Given the description of an element on the screen output the (x, y) to click on. 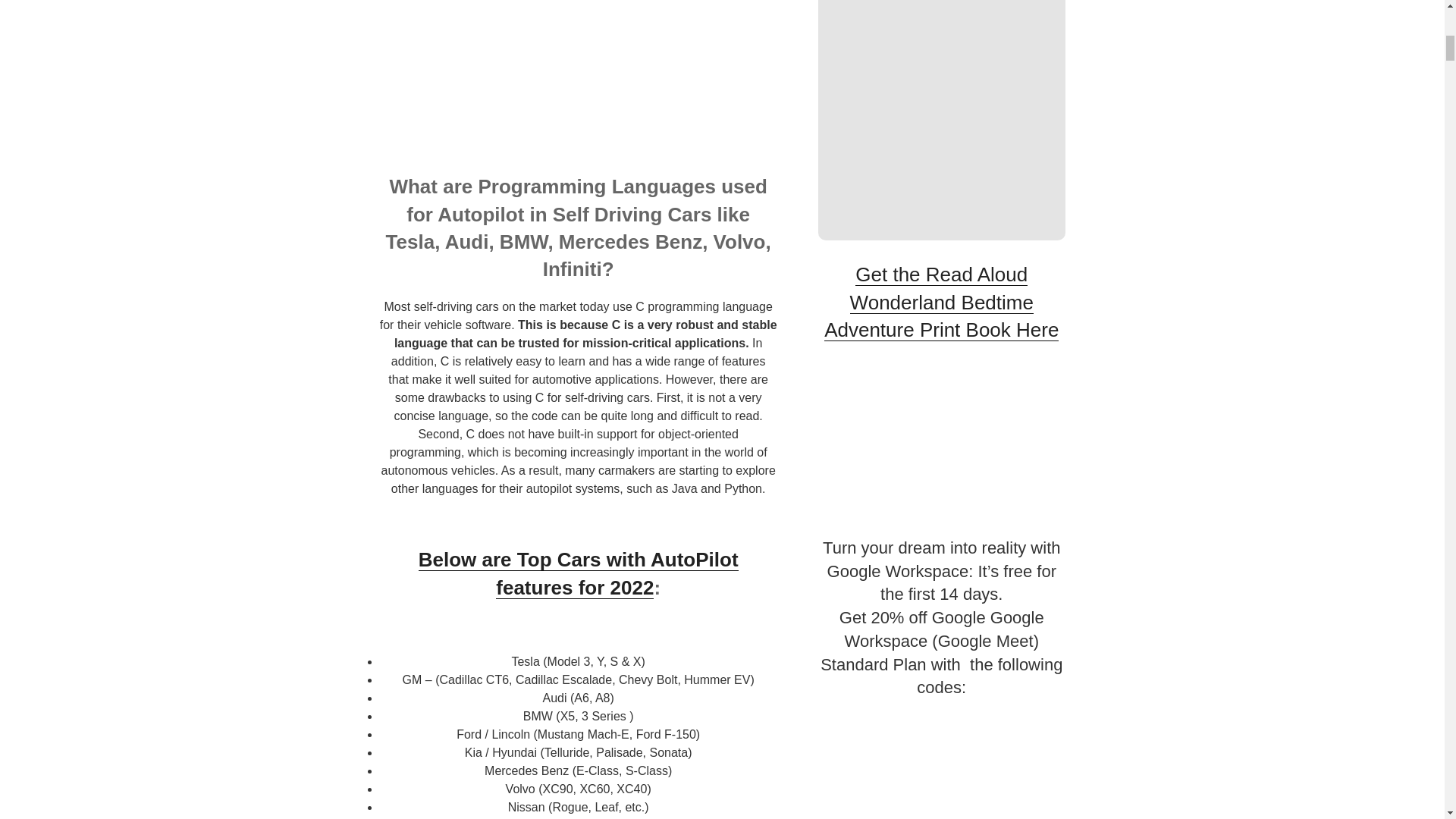
Below are Top Cars with AutoPilot features for 2022 (578, 572)
